Given the description of an element on the screen output the (x, y) to click on. 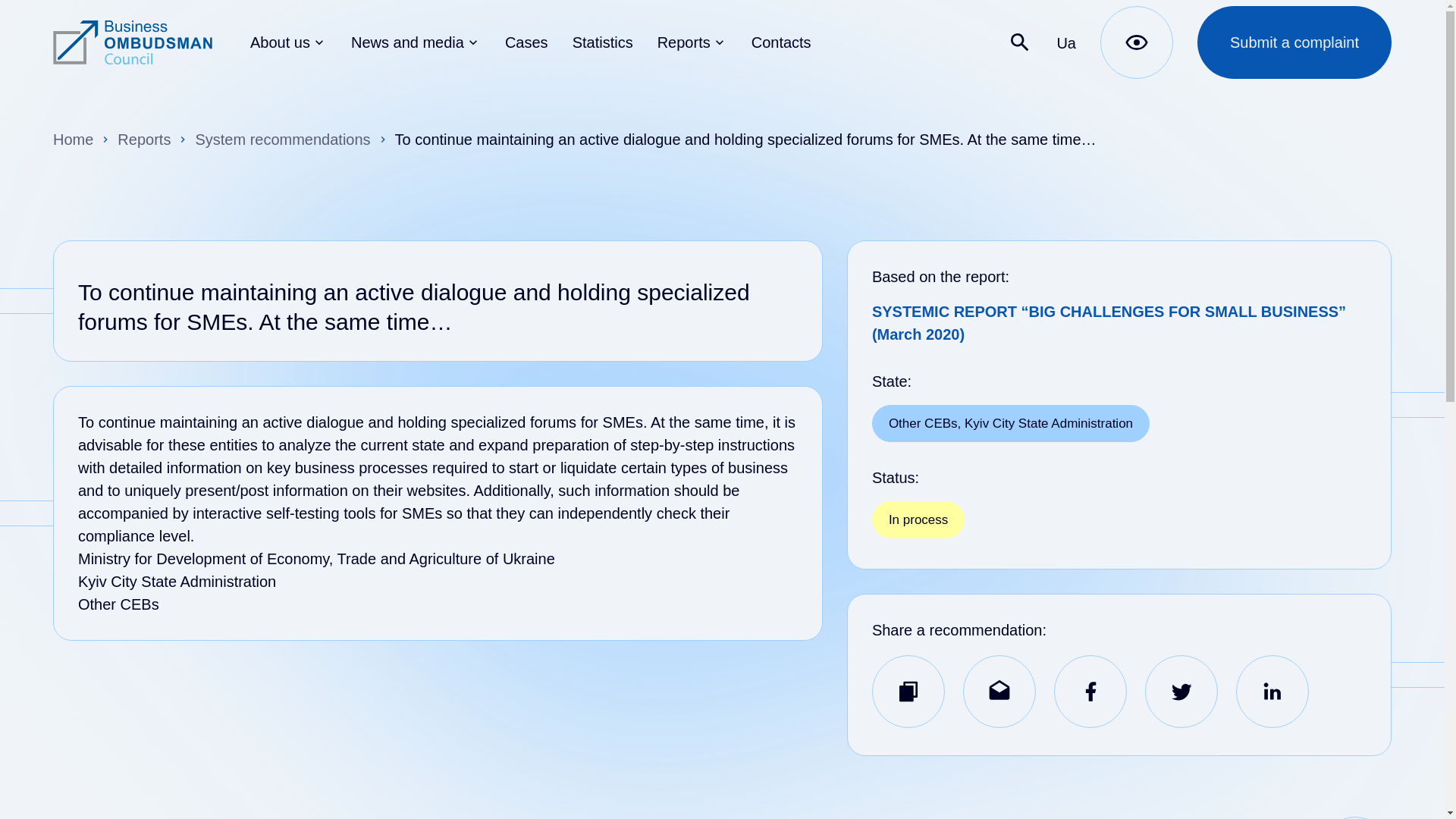
Reports (704, 42)
Contacts (793, 42)
Cases (538, 42)
News and media (427, 42)
Statistics (615, 42)
About us (300, 42)
